Given the description of an element on the screen output the (x, y) to click on. 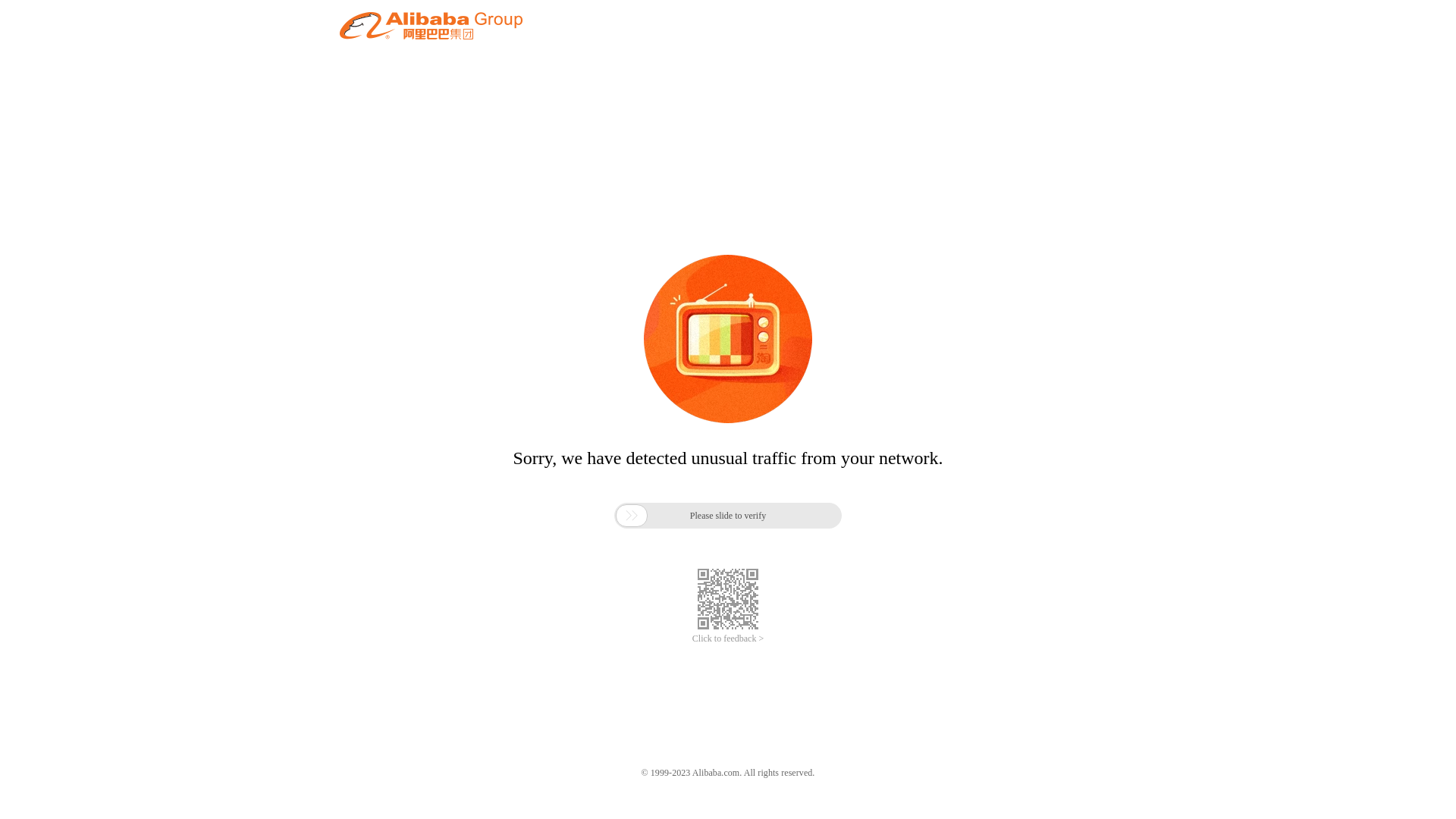
Click to feedback > Element type: text (727, 638)
